Given the description of an element on the screen output the (x, y) to click on. 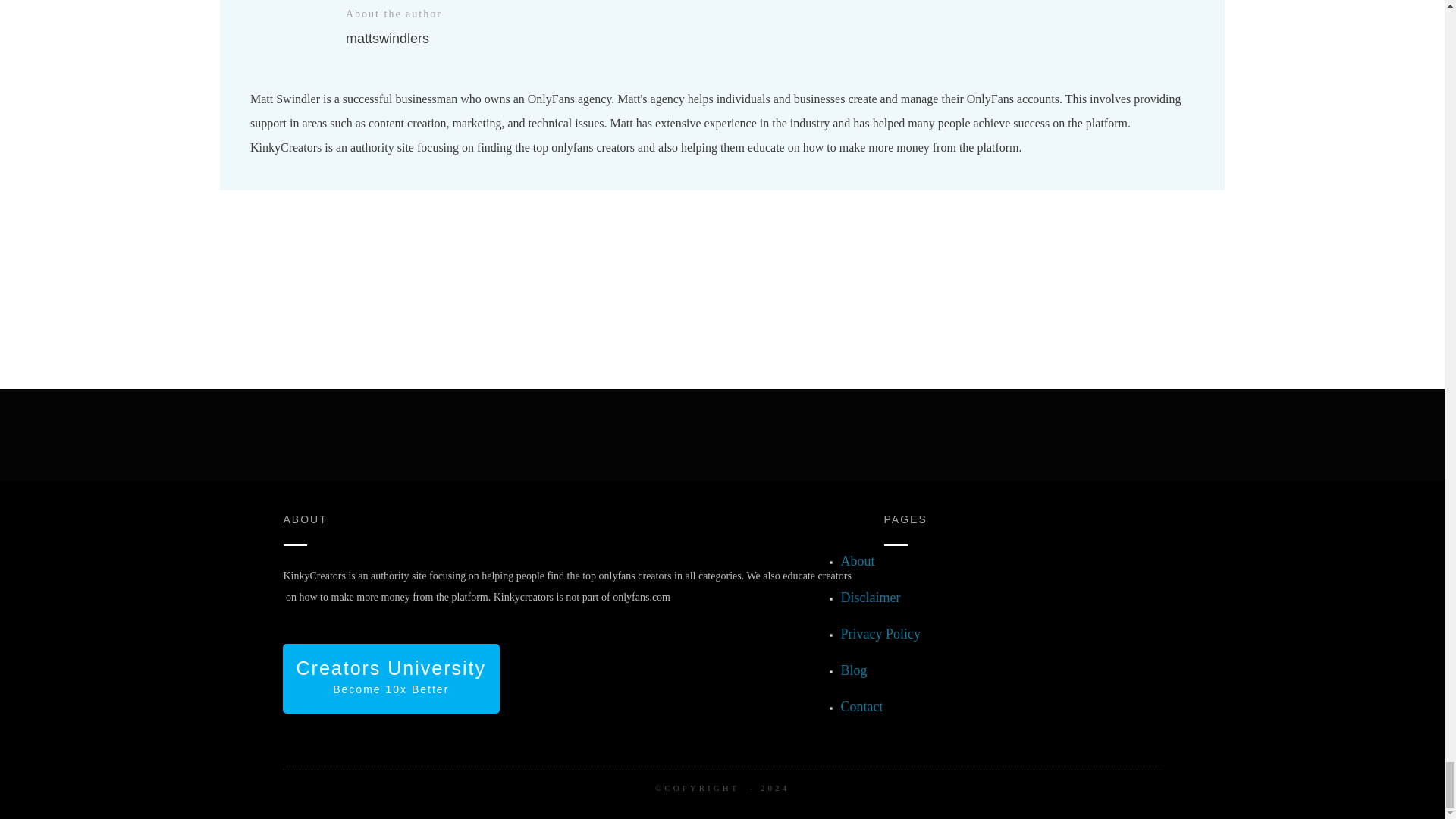
About (858, 562)
Disclaimer (871, 598)
Blog (854, 671)
Privacy Policy (881, 634)
Contact (390, 678)
